Given the description of an element on the screen output the (x, y) to click on. 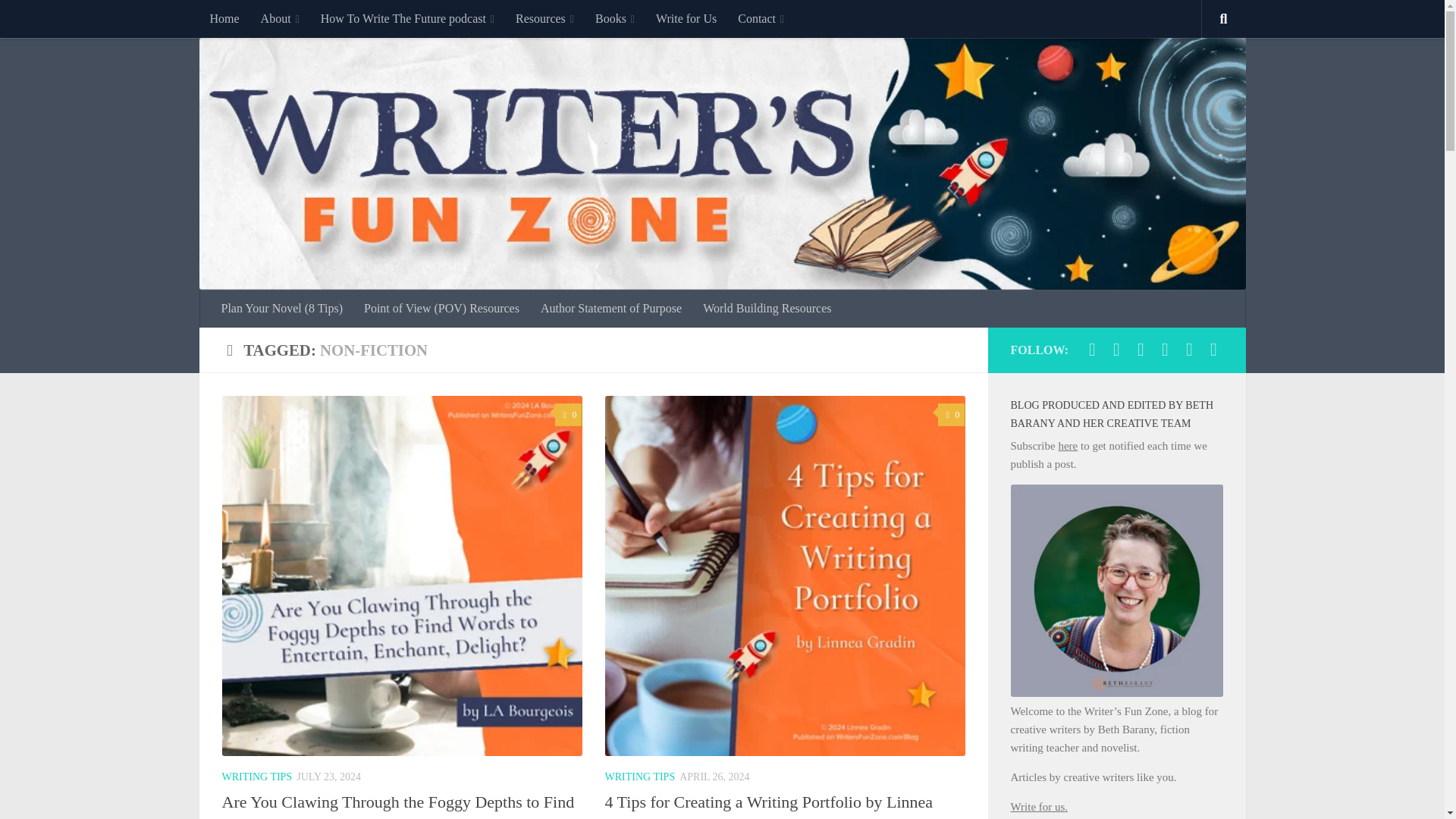
Home (223, 18)
About (280, 18)
Skip to content (59, 20)
